Given the description of an element on the screen output the (x, y) to click on. 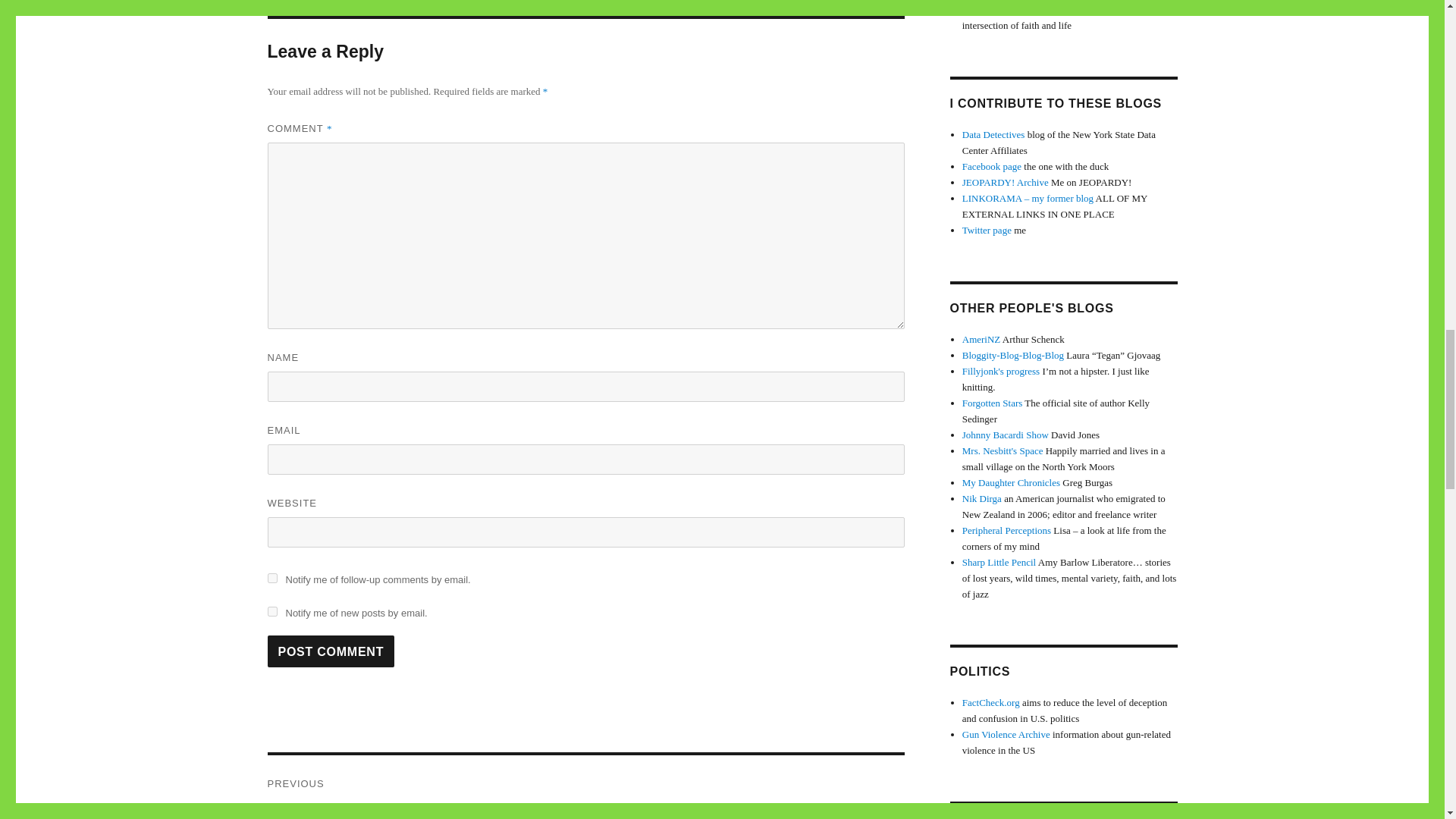
subscribe (585, 787)
Post Comment (271, 578)
subscribe (330, 651)
Post Comment (271, 611)
